Given the description of an element on the screen output the (x, y) to click on. 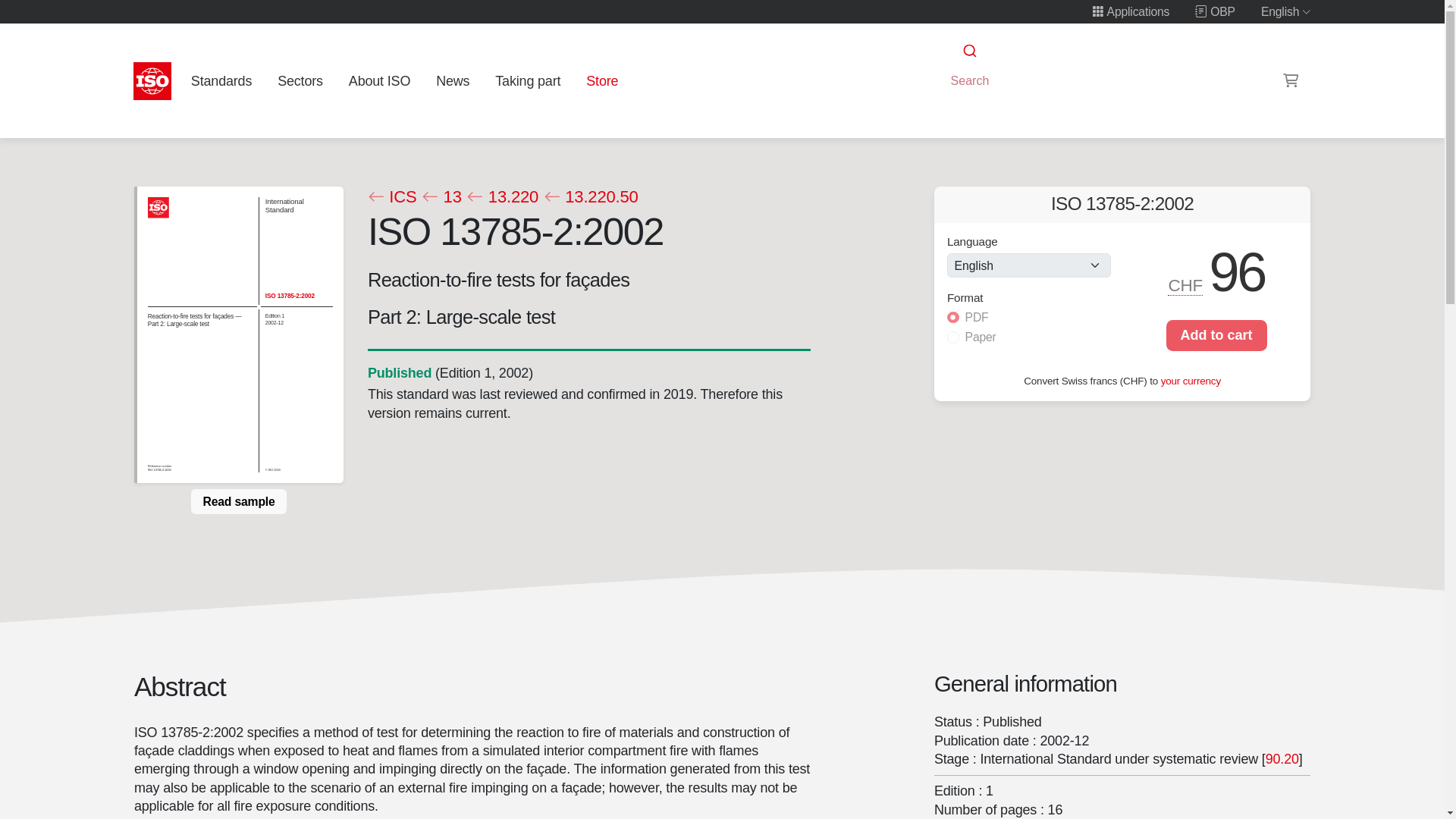
Add to cart (1216, 335)
News (452, 80)
Read sample (237, 501)
ICS (391, 197)
Taking part (528, 80)
Standards (220, 80)
Sectors (300, 80)
English (1285, 11)
 Applications (1130, 11)
90.20 (1281, 758)
